Given the description of an element on the screen output the (x, y) to click on. 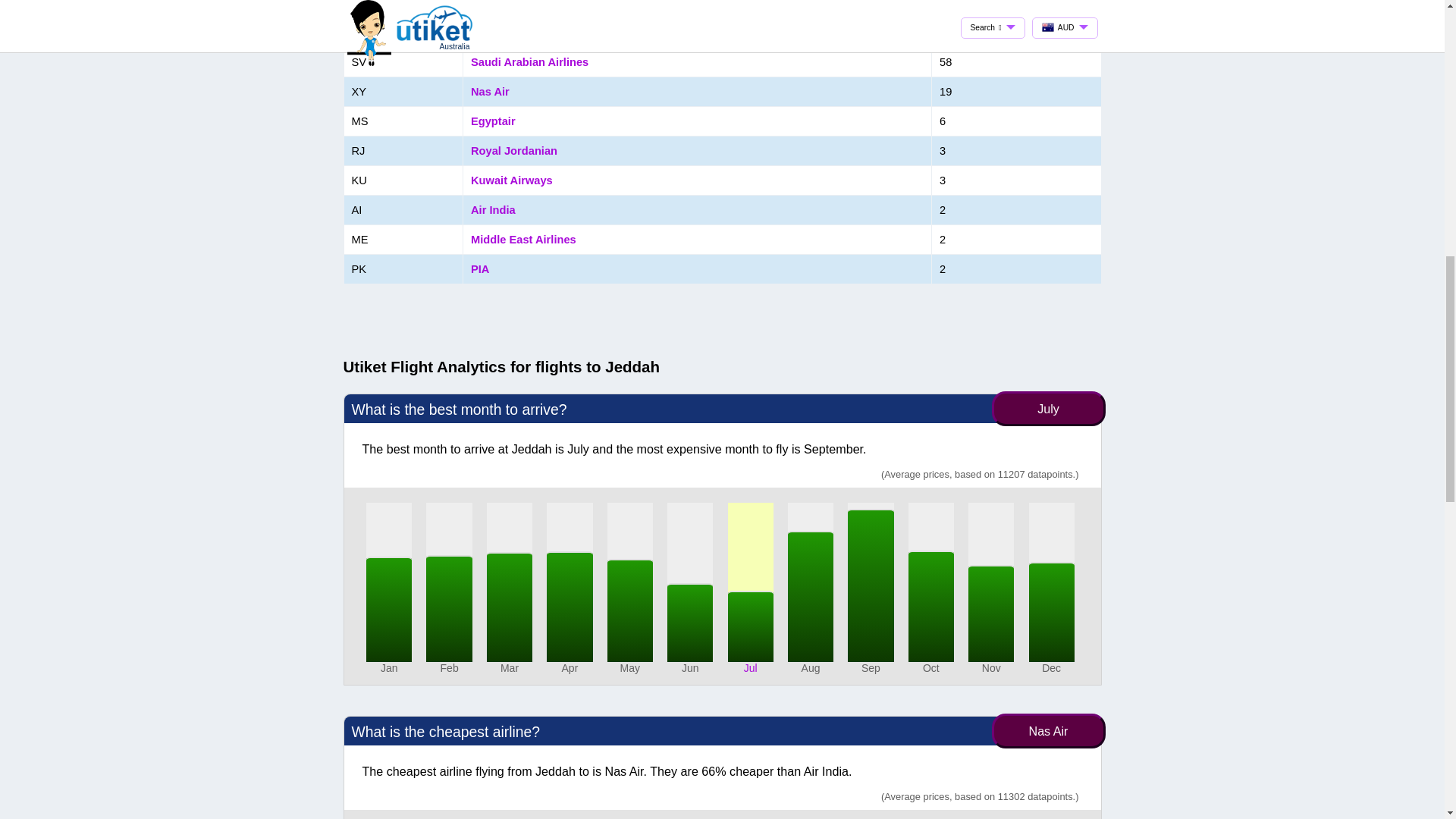
Saudi Arabian Airlines (529, 61)
Royal Jordanian (513, 150)
Egyptair (492, 121)
Nas Air (489, 91)
